Given the description of an element on the screen output the (x, y) to click on. 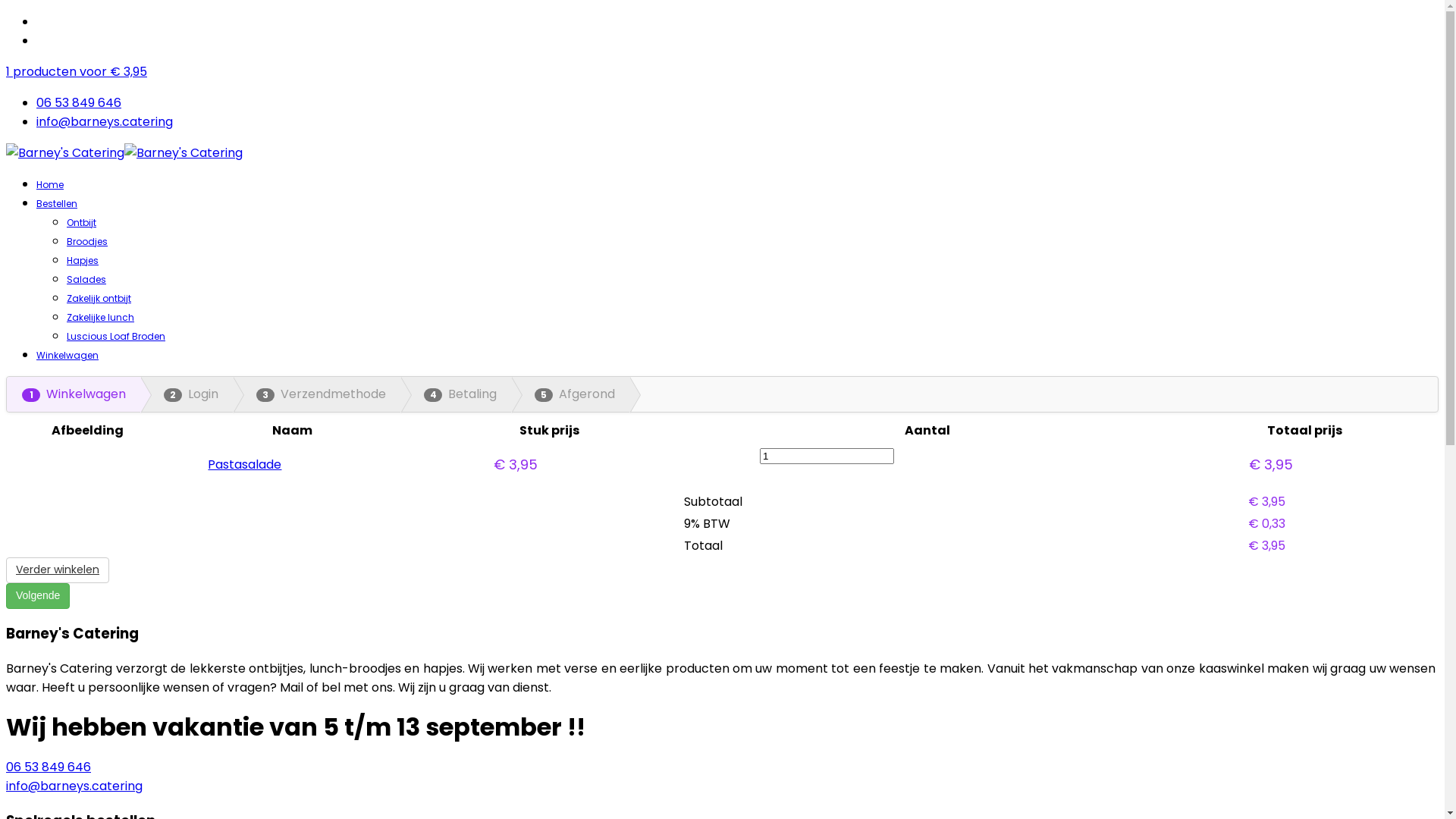
info@barneys.catering Element type: text (104, 121)
Luscious Loaf Broden Element type: text (115, 335)
Zakelijke lunch Element type: text (100, 316)
06 53 849 646 Element type: text (48, 766)
info@barneys.catering Element type: text (74, 785)
Broodjes Element type: text (86, 241)
Zakelijk ontbijt Element type: text (98, 297)
Hapjes Element type: text (82, 260)
06 53 849 646 Element type: text (78, 102)
Ontbijt Element type: text (81, 222)
Pastasalade Element type: text (244, 464)
Verder winkelen Element type: text (57, 570)
Bestellen Element type: text (56, 203)
Winkelwagen Element type: text (67, 354)
Volgende Element type: text (37, 595)
Salades Element type: text (86, 279)
Home Element type: text (49, 184)
